Given the description of an element on the screen output the (x, y) to click on. 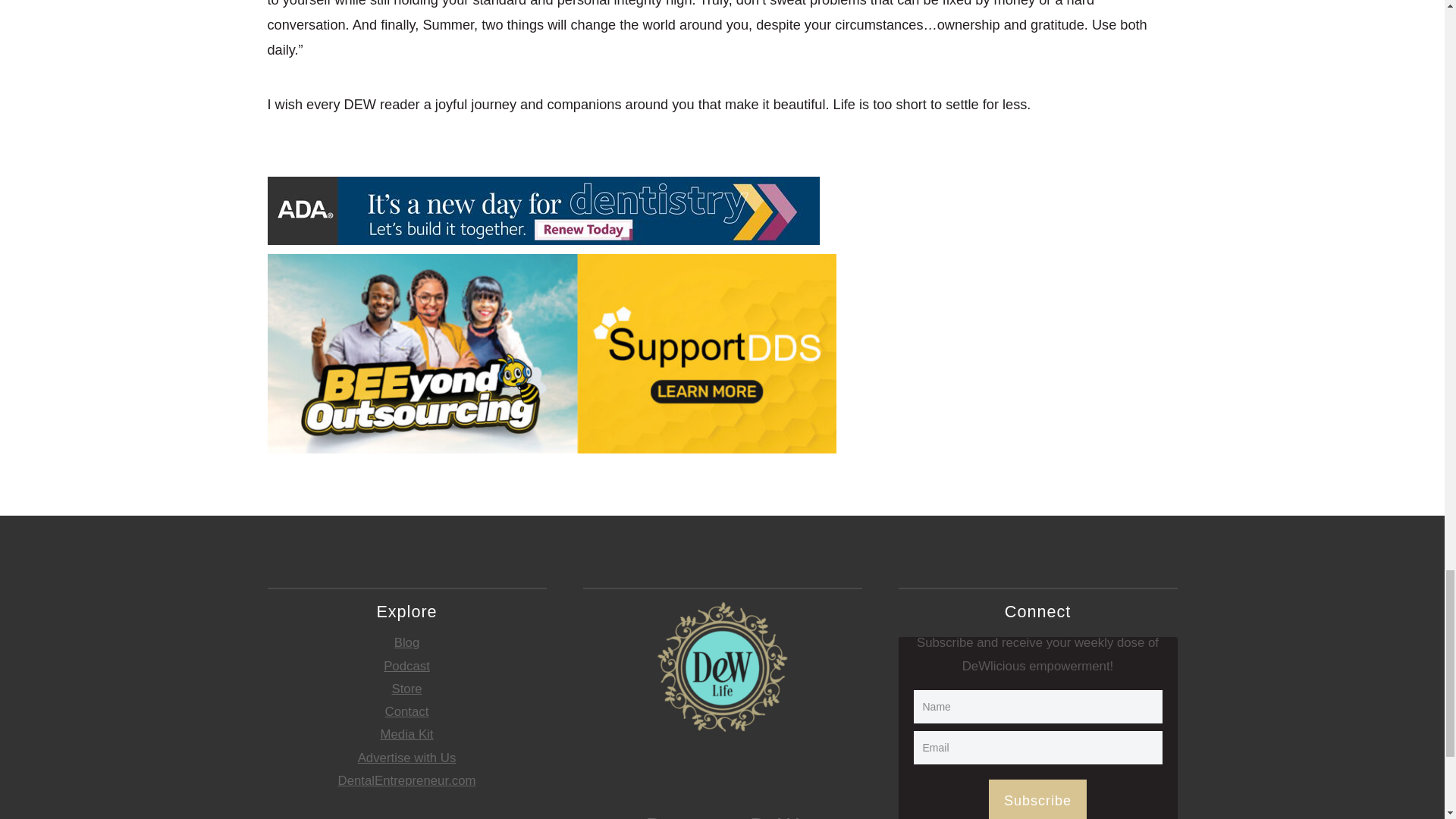
advertisement (542, 210)
Podcast (406, 666)
Blog (407, 642)
Store (406, 688)
Contact (407, 711)
